Given the description of an element on the screen output the (x, y) to click on. 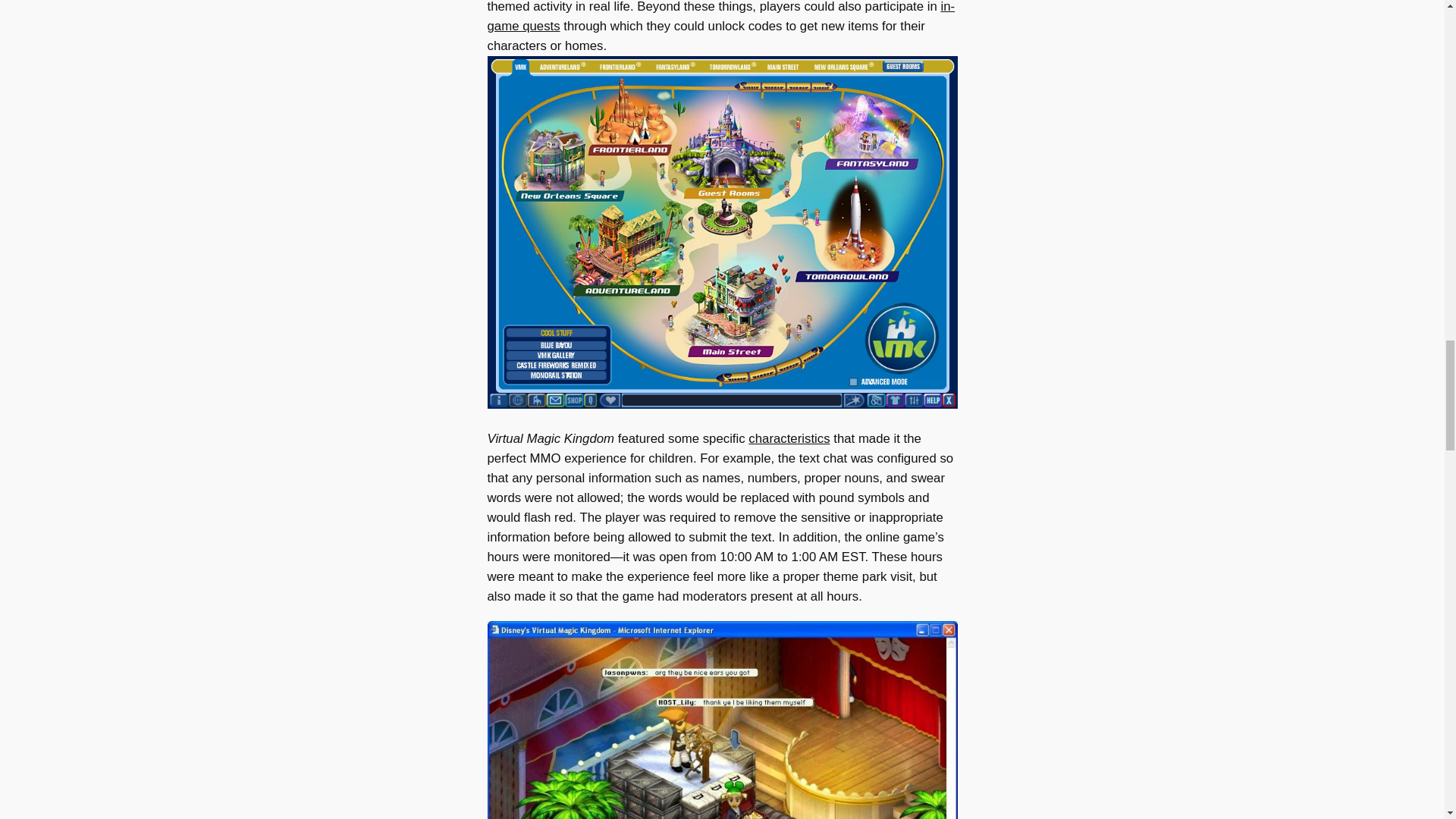
in-game quests (720, 16)
characteristics (788, 438)
